Given the description of an element on the screen output the (x, y) to click on. 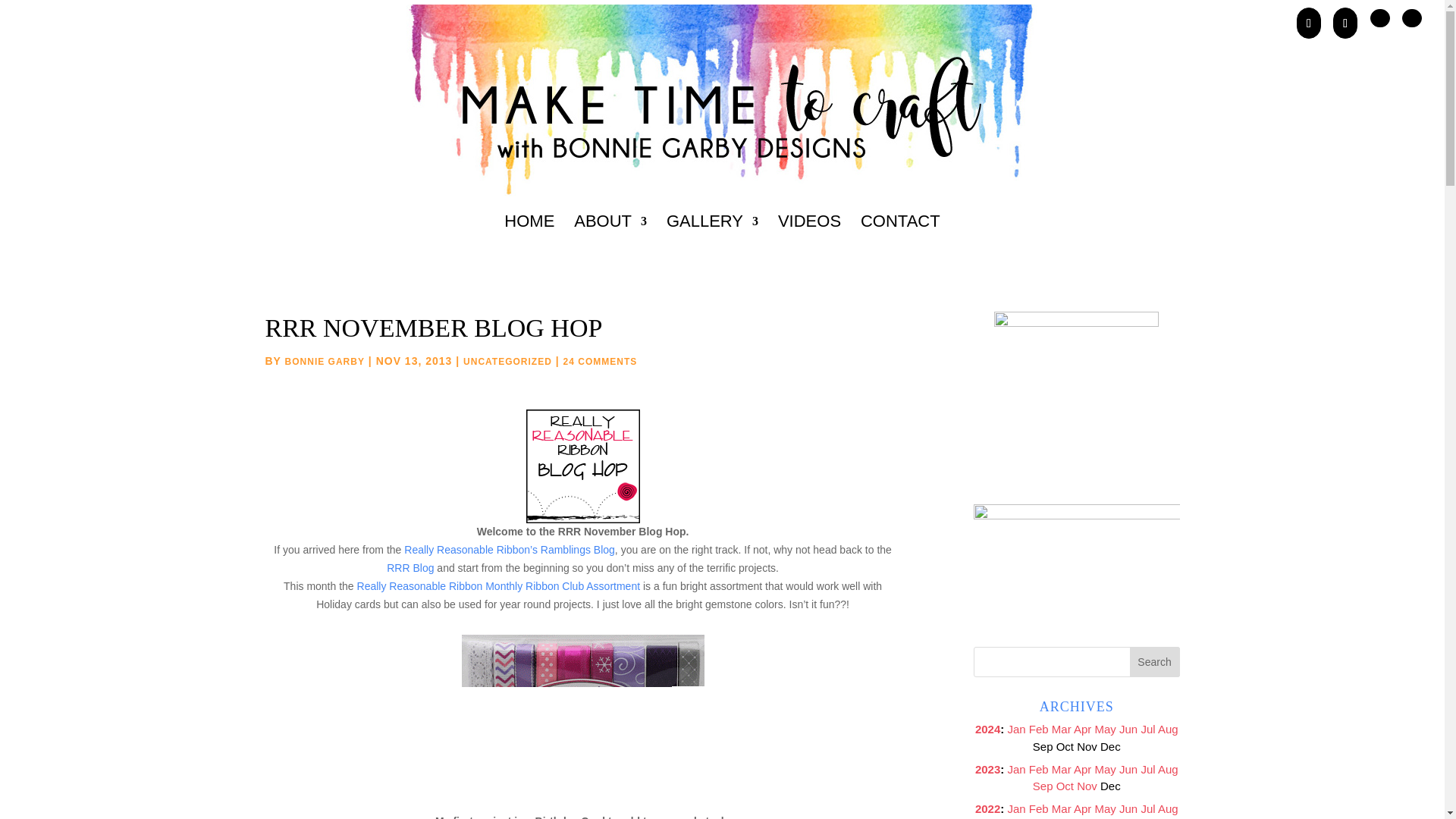
Posts by Bonnie Garby (325, 361)
Search (1154, 662)
24 COMMENTS (600, 361)
January 2001 (1016, 728)
UNCATEGORIZED (507, 361)
March 2001 (1061, 728)
RRR Blog (410, 567)
June 2001 (1128, 728)
ABOUT (609, 240)
BONNIE GARBY (325, 361)
